Given the description of an element on the screen output the (x, y) to click on. 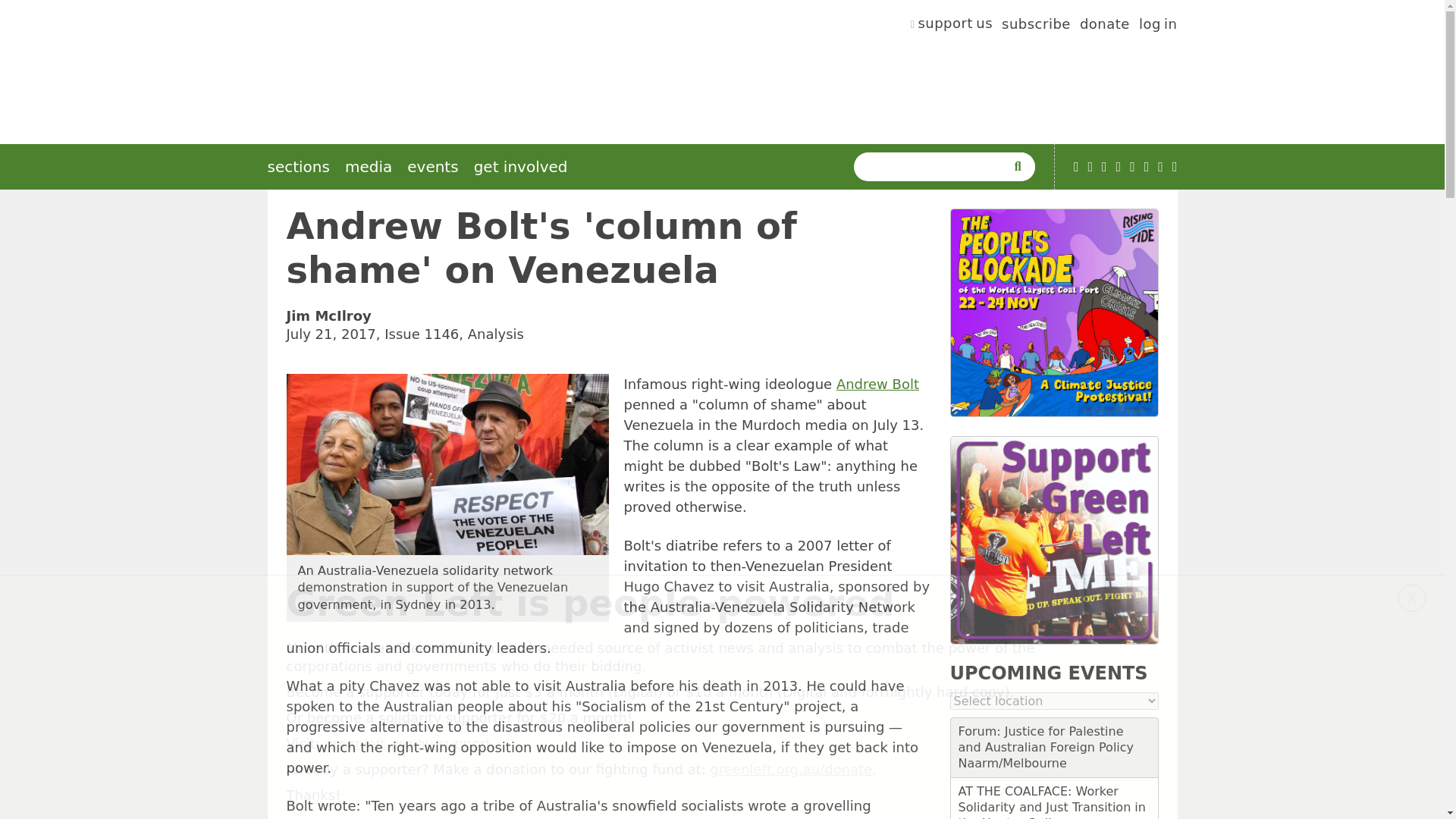
Enter the terms you wish to search for. (932, 166)
log in (1157, 26)
donate (1104, 26)
subscribe (1035, 26)
support us (951, 26)
events (432, 166)
